Given the description of an element on the screen output the (x, y) to click on. 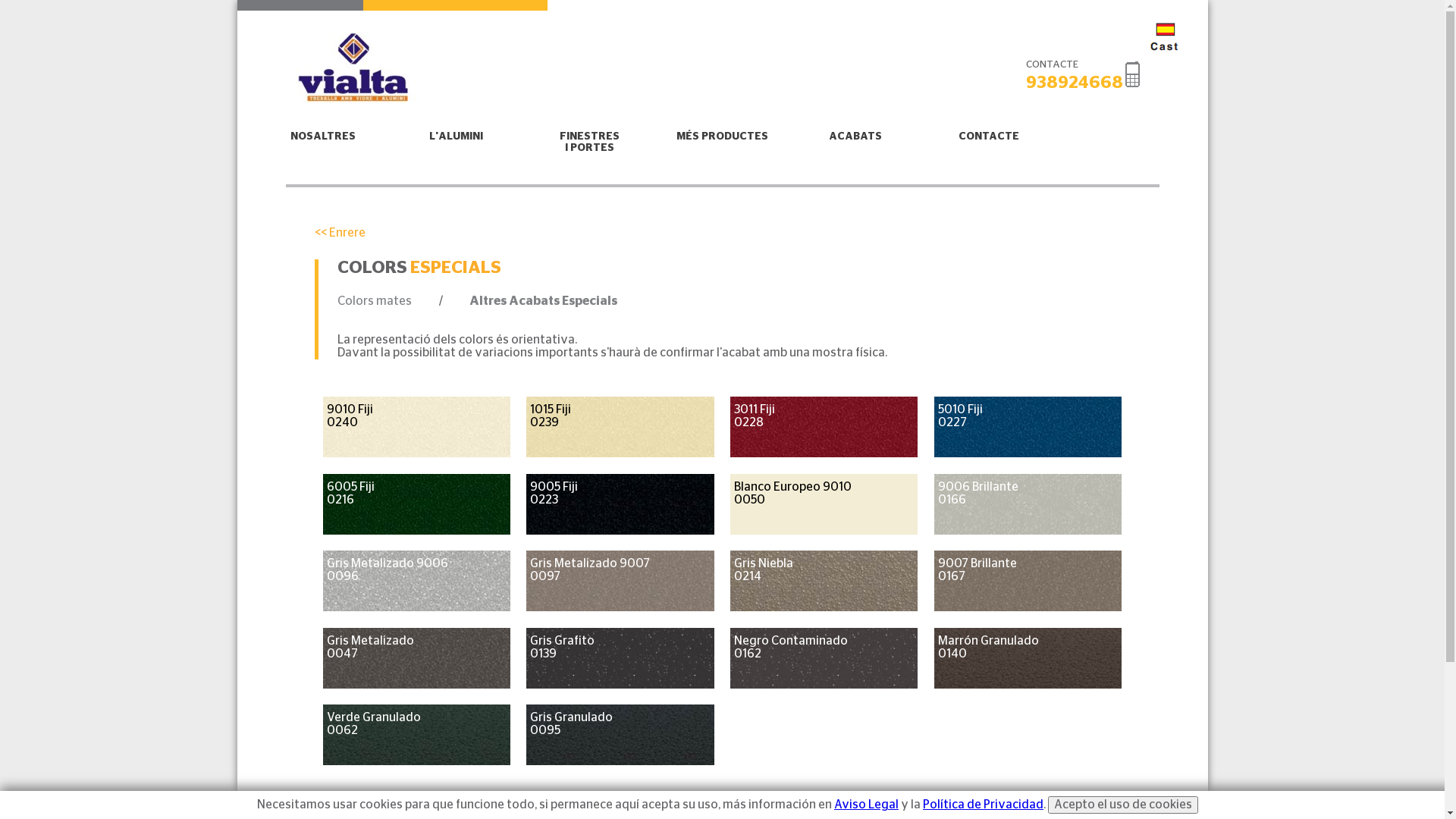
<< Enrere Element type: text (761, 232)
L'ALUMINI Element type: text (456, 136)
Aviso Legal Element type: text (866, 804)
ACABATS Element type: text (855, 136)
NOSALTRES Element type: text (322, 136)
Altres Acabats Especials Element type: text (543, 300)
FINESTRES
I PORTES Element type: text (588, 142)
CONTACTE Element type: text (988, 136)
Acepto el uso de cookies Element type: text (1123, 804)
Colors mates Element type: text (374, 300)
